Given the description of an element on the screen output the (x, y) to click on. 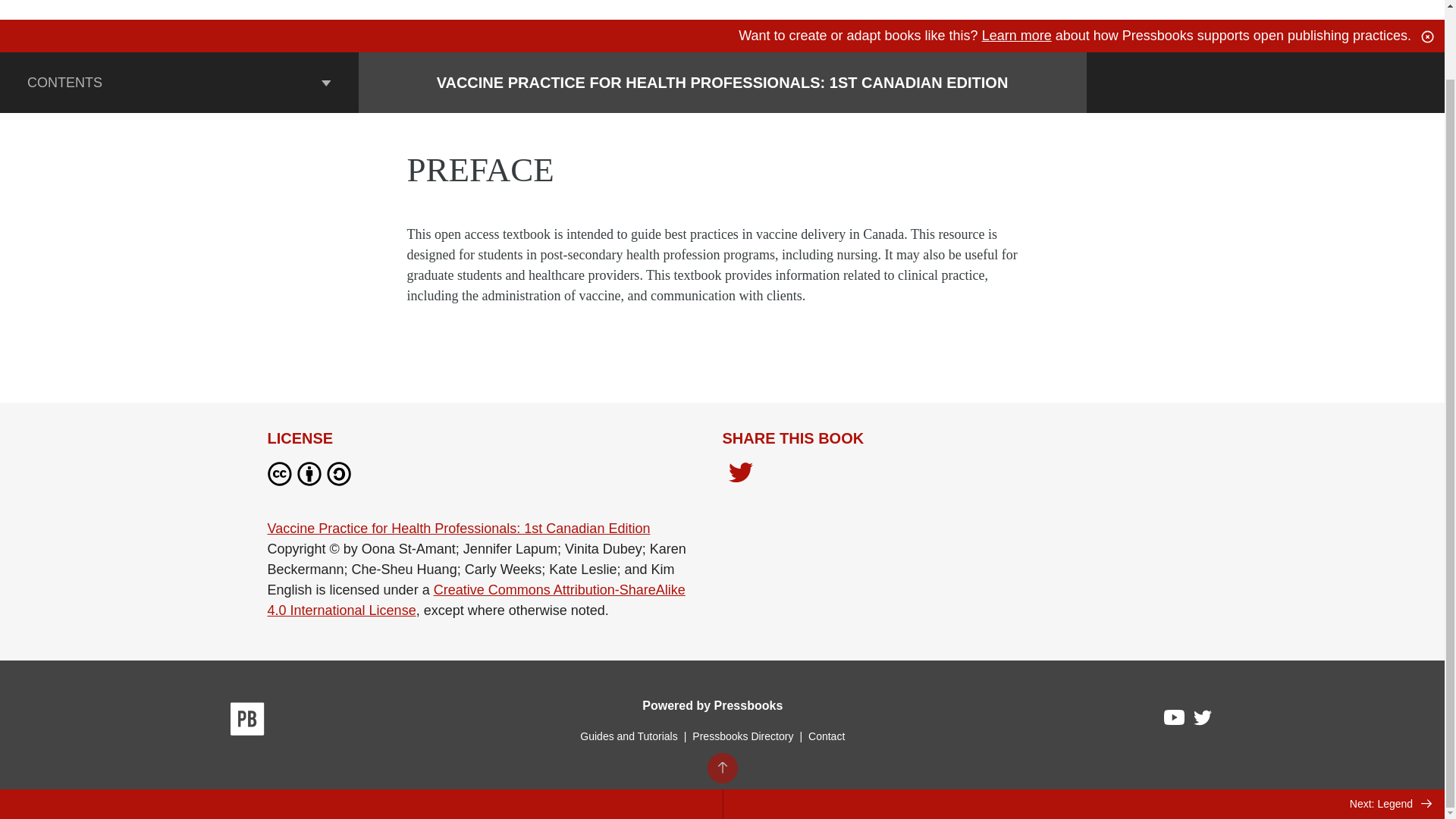
Pressbooks on Twitter (1202, 721)
CONTENTS (178, 82)
Pressbooks Directory (742, 736)
Pressbooks (247, 721)
Learn more (1016, 35)
BACK TO TOP (721, 691)
Share on Twitter (740, 473)
Pressbooks on YouTube (1174, 721)
Contact (826, 736)
Powered by Pressbooks (712, 705)
Guides and Tutorials (627, 736)
Share on Twitter (740, 476)
